Given the description of an element on the screen output the (x, y) to click on. 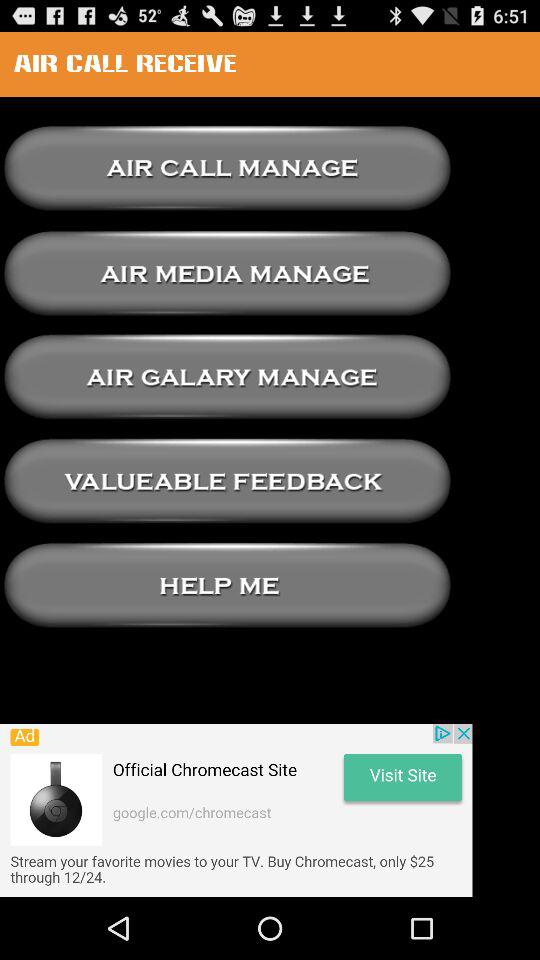
help (227, 585)
